Given the description of an element on the screen output the (x, y) to click on. 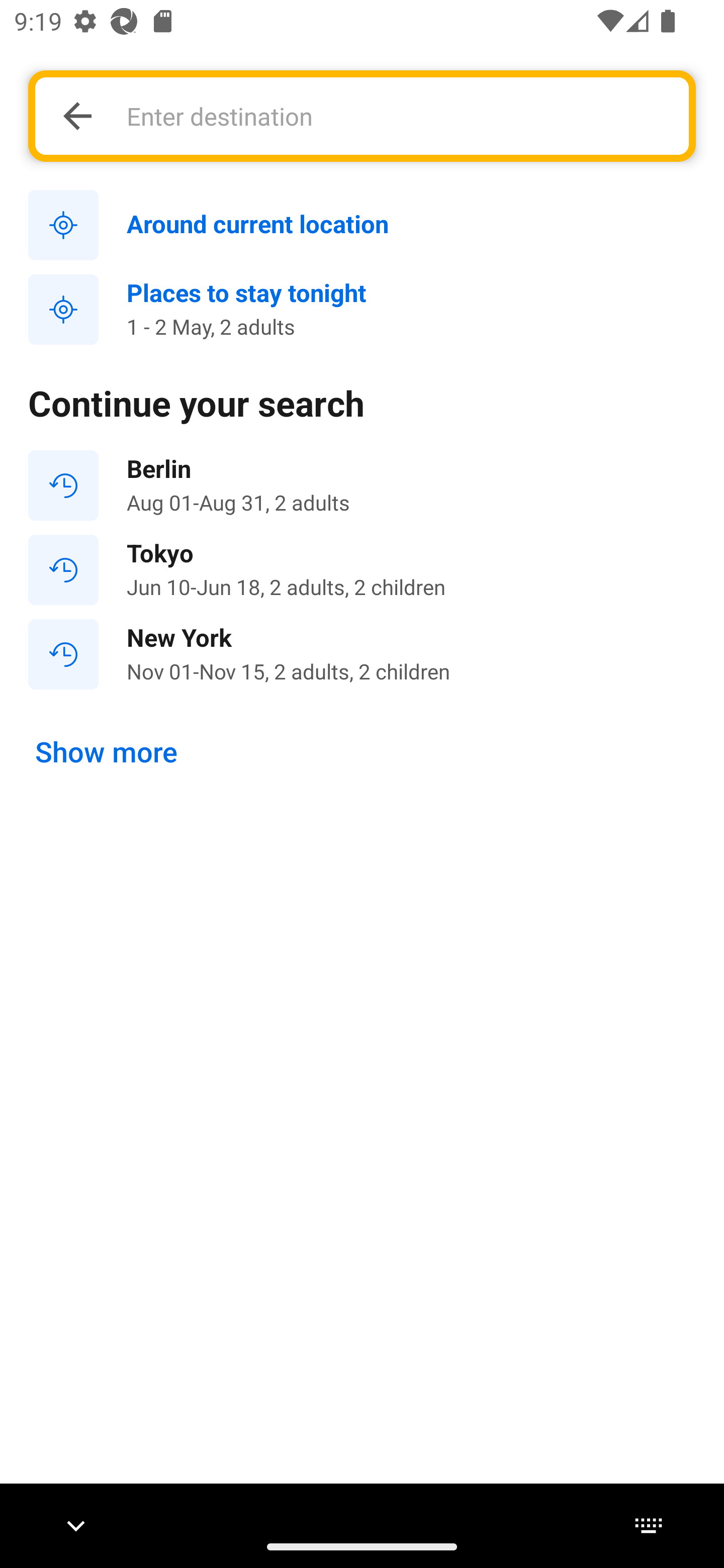
Enter destination (396, 115)
Around current location (362, 225)
Places to stay tonight 1 - 2 May, 2 adults (362, 309)
Berlin Aug 01-Aug 31, 2 adults  (362, 485)
Tokyo Jun 10-Jun 18, 2 adults, 2 children (362, 569)
New York Nov 01-Nov 15, 2 adults, 2 children (362, 653)
Show more (106, 752)
